Given the description of an element on the screen output the (x, y) to click on. 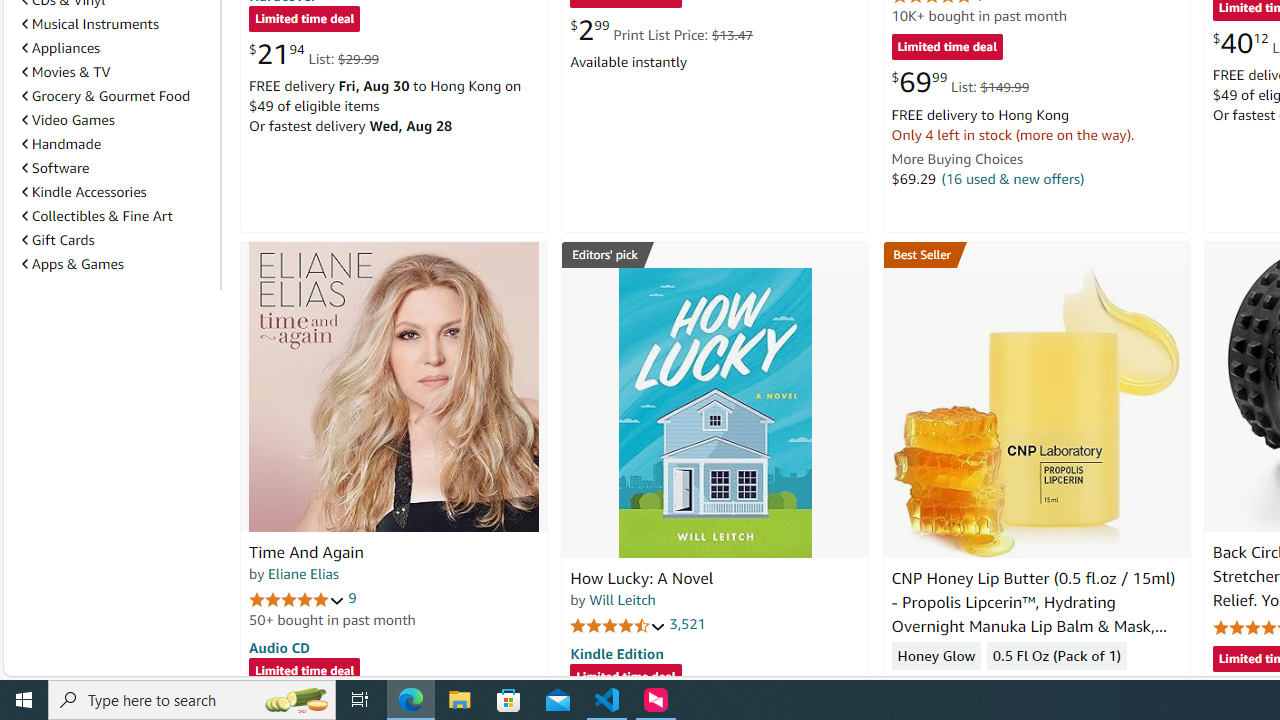
$2.99 Print List Price: $13.47 (660, 30)
Limited time deal (625, 678)
Kindle Accessories (84, 191)
5.0 out of 5 stars (297, 598)
Handmade (61, 143)
Grocery & Gourmet Food (105, 96)
Audio CD (279, 646)
Software (117, 167)
Movies & TV (66, 71)
Musical Instruments (117, 23)
Software (55, 168)
$69.99 List: $149.99 (960, 82)
